Given the description of an element on the screen output the (x, y) to click on. 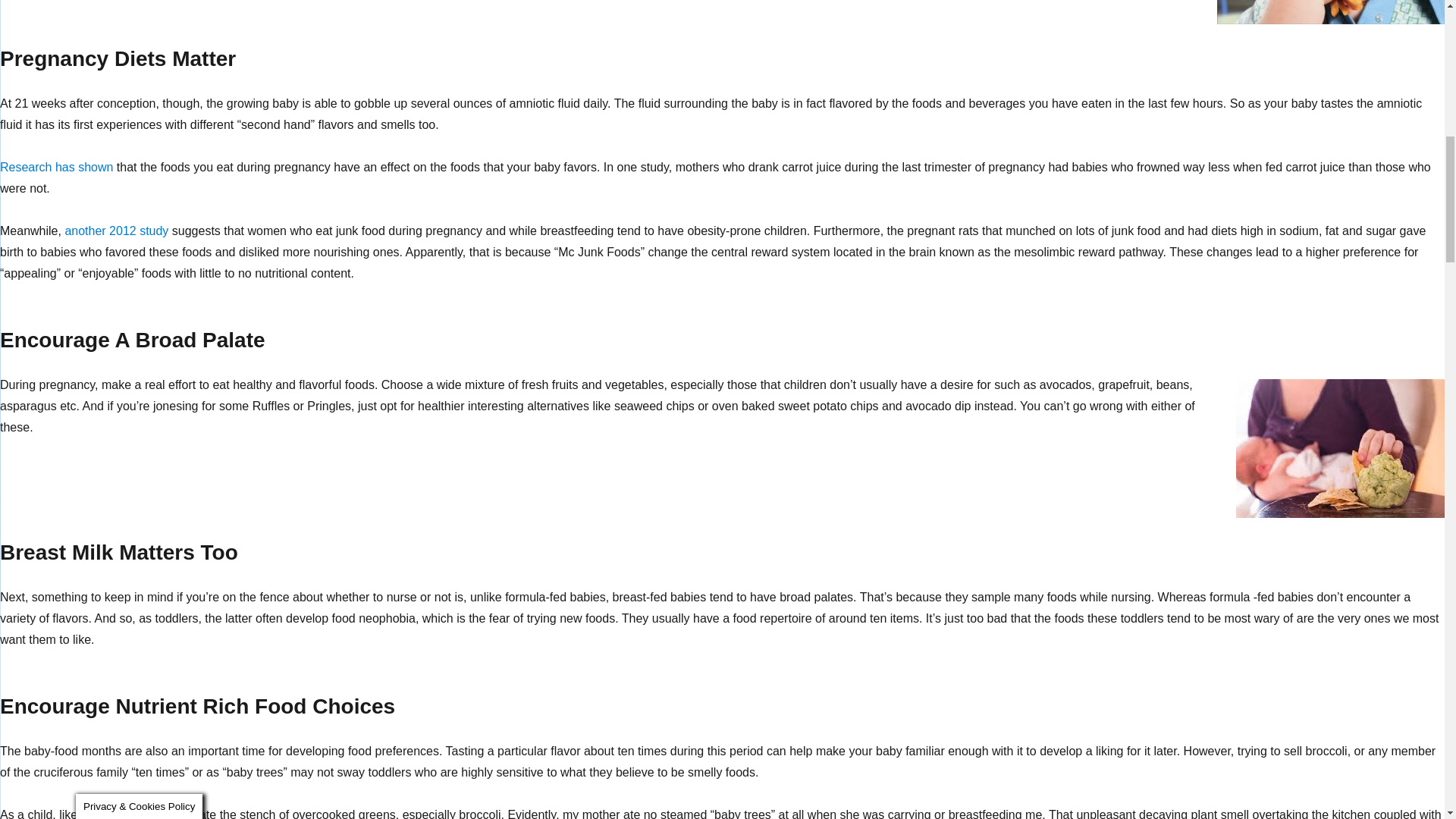
another 2012 study (116, 230)
Research has shown (56, 166)
